Given the description of an element on the screen output the (x, y) to click on. 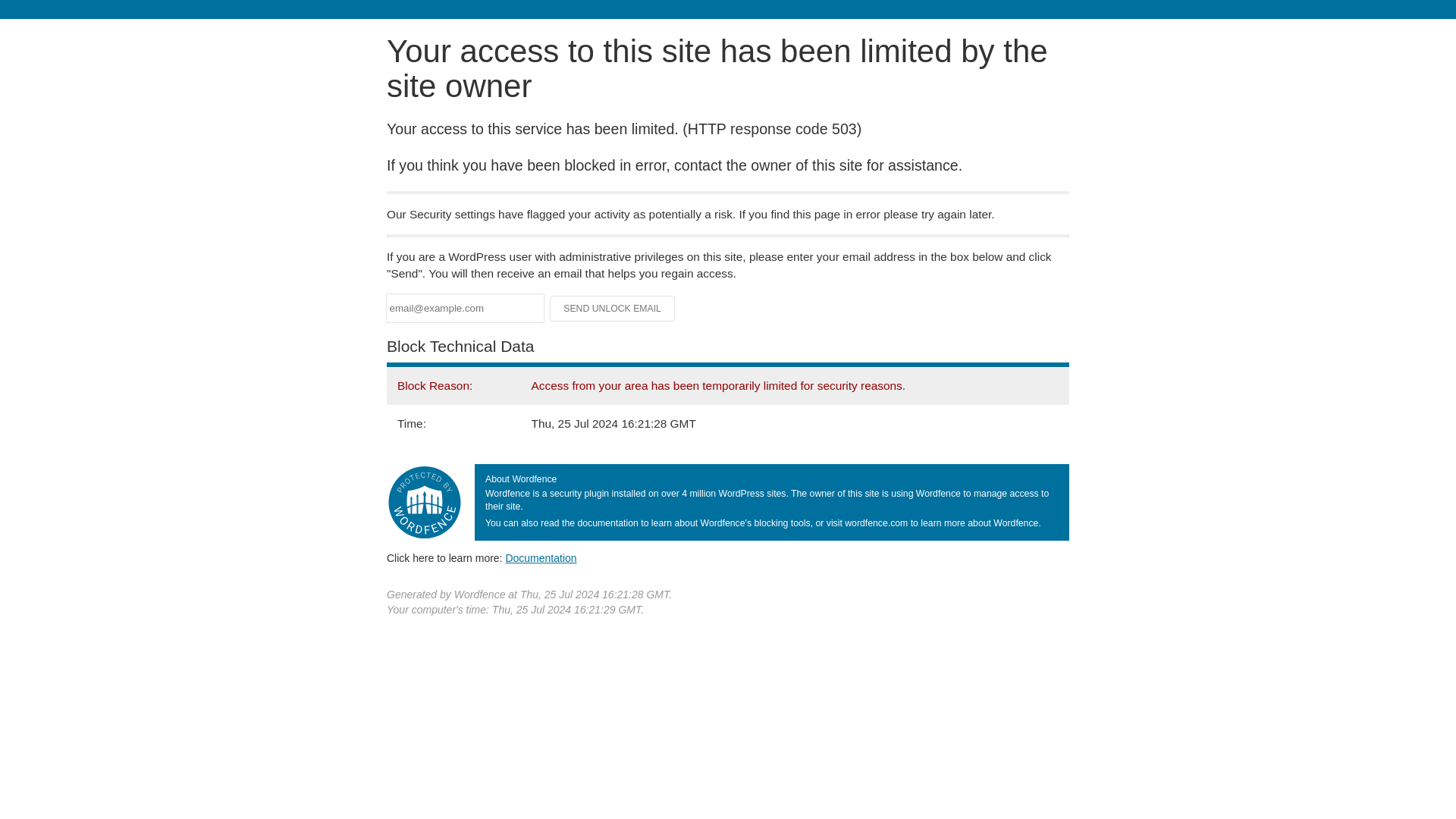
Send Unlock Email (612, 308)
Documentation (540, 558)
Send Unlock Email (612, 308)
